Given the description of an element on the screen output the (x, y) to click on. 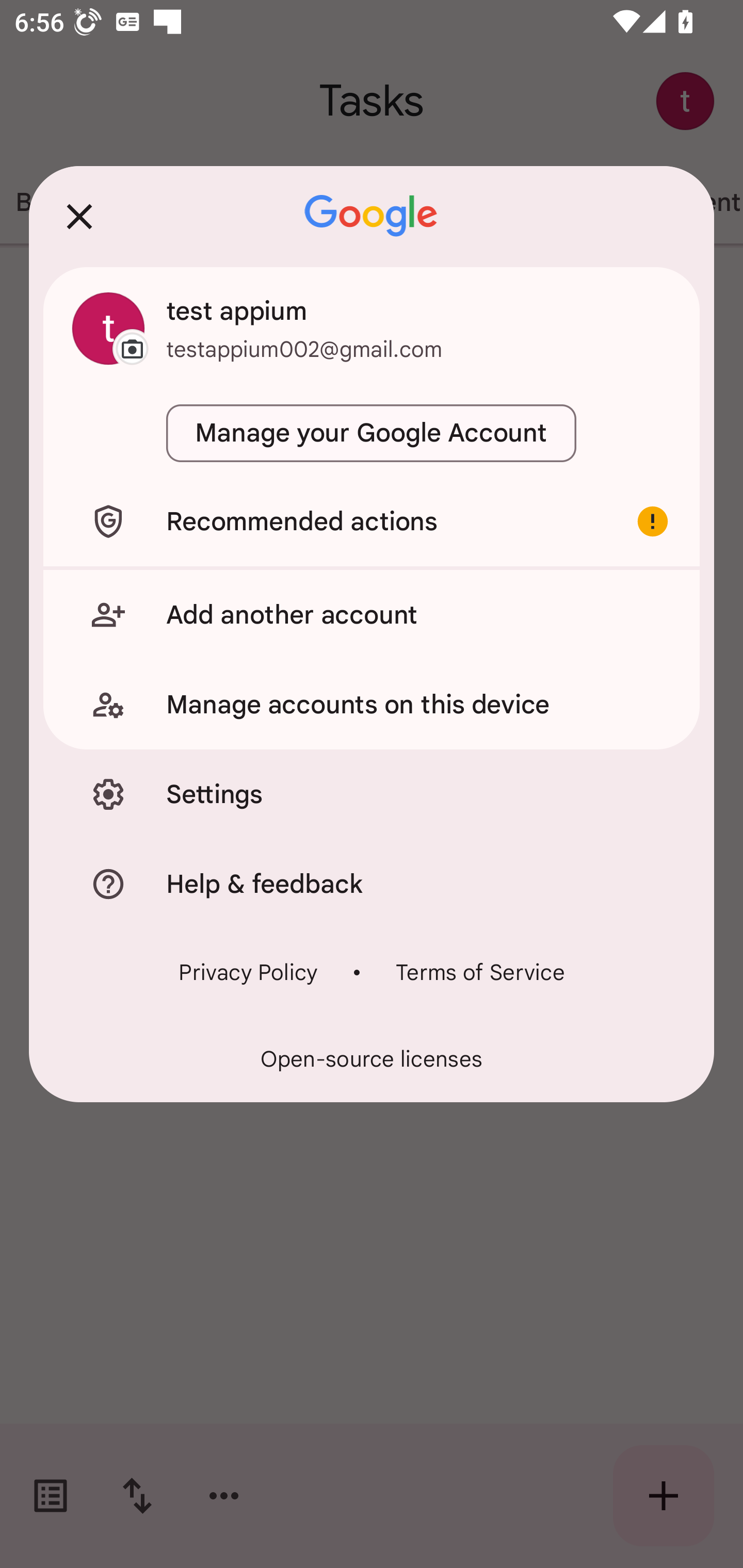
Close (79, 216)
Change profile picture. (108, 328)
Manage your Google Account (371, 433)
Recommended actions Important account alert (371, 521)
Add another account (371, 614)
Manage accounts on this device (371, 704)
Settings (371, 793)
Help & feedback (371, 883)
Privacy Policy (247, 972)
Terms of Service (479, 972)
Open-source licenses (371, 1059)
